Given the description of an element on the screen output the (x, y) to click on. 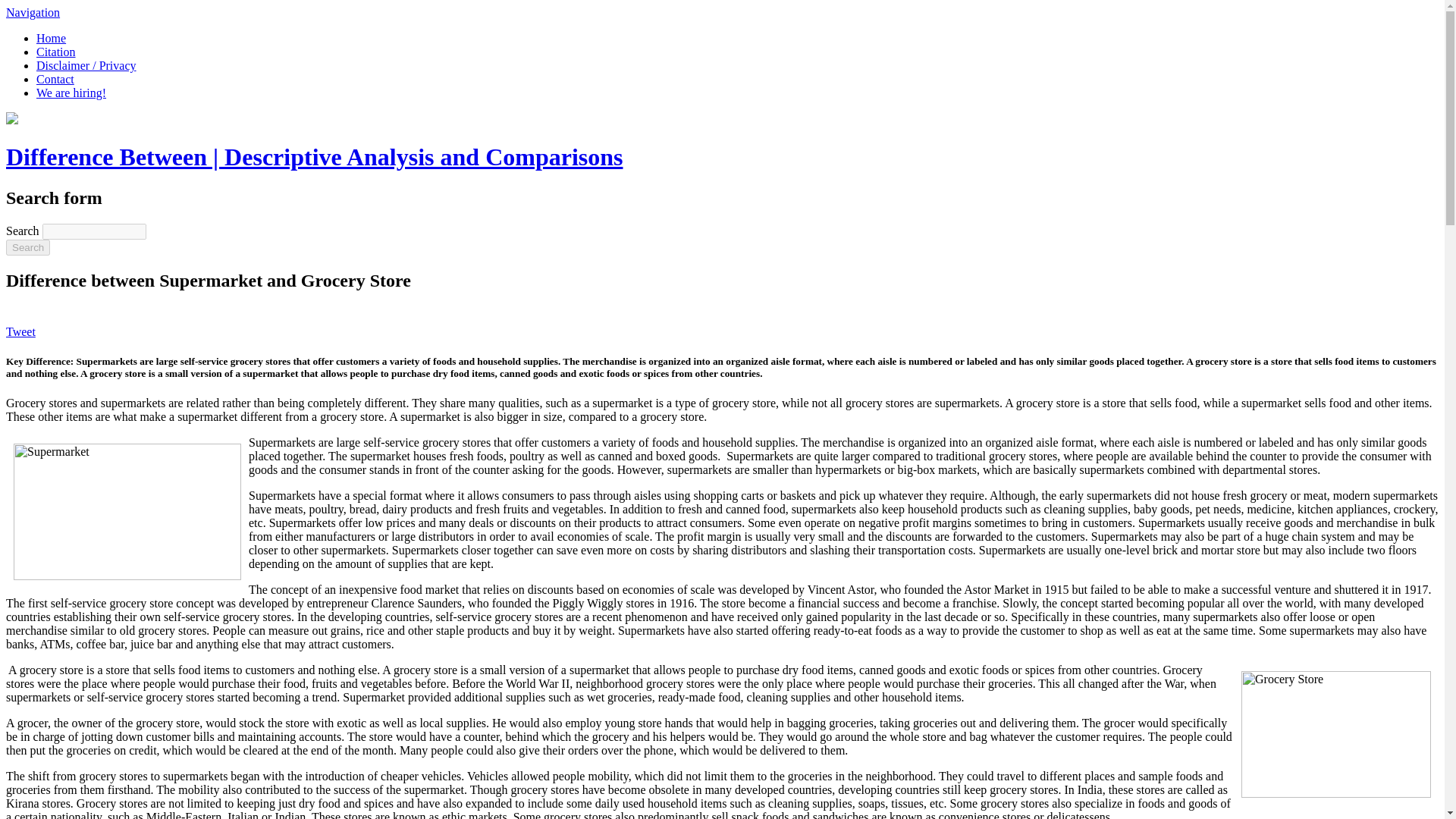
Grocery Store (1336, 733)
Citation (55, 51)
We are hiring! (71, 92)
Navigation (32, 11)
Supermarket (127, 511)
Home (314, 156)
Enter the terms you wish to search for. (94, 231)
Home (50, 38)
Search (27, 247)
Contact (55, 78)
Tweet (19, 331)
Search (27, 247)
Home (11, 119)
